Given the description of an element on the screen output the (x, y) to click on. 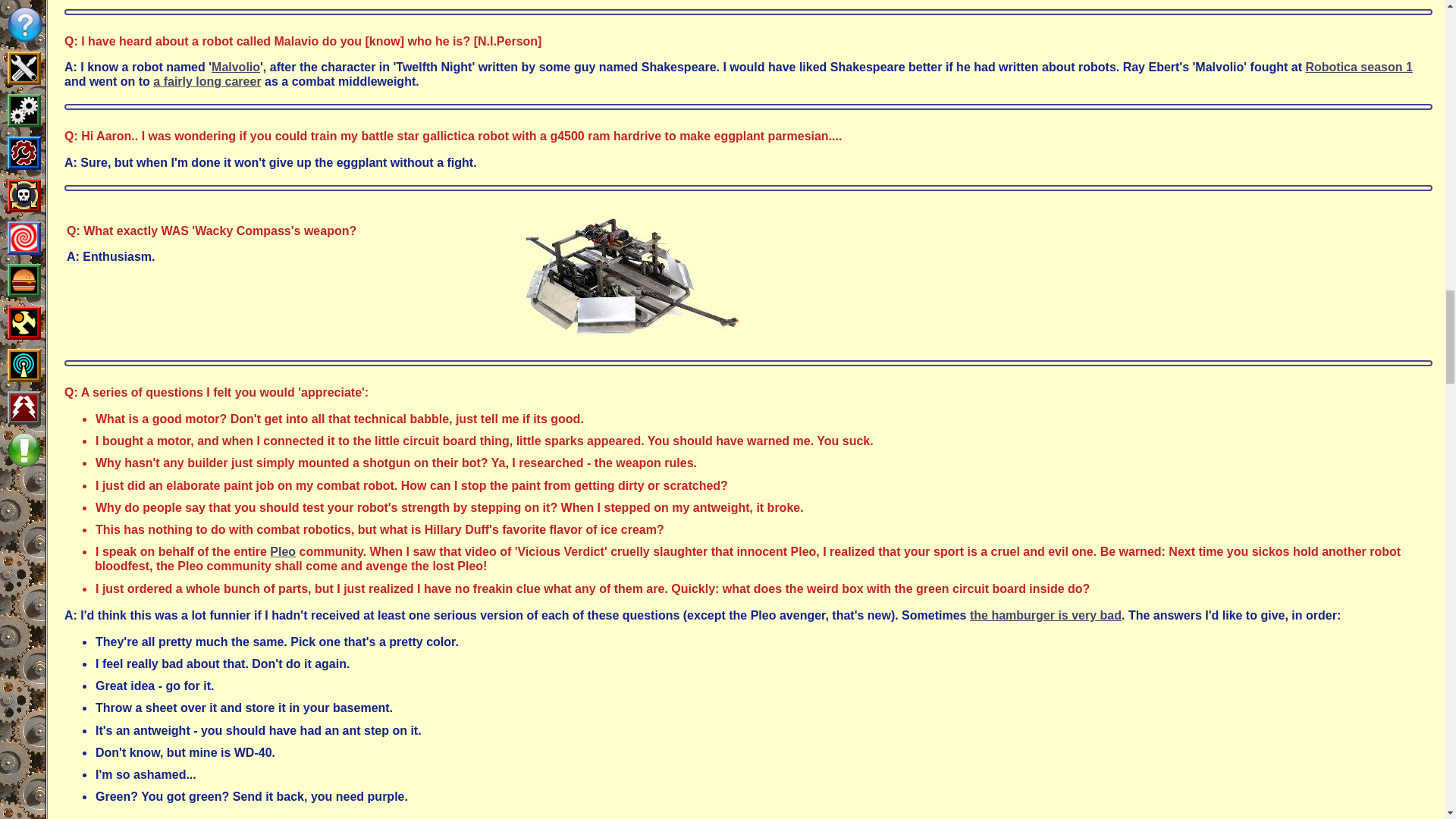
The Wacky Compass - combat robot (629, 277)
Malvolio (235, 66)
Pleo (282, 551)
the hamburger is very bad (1045, 615)
a fairly long career (206, 81)
Robotica season 1 (1358, 66)
